Given the description of an element on the screen output the (x, y) to click on. 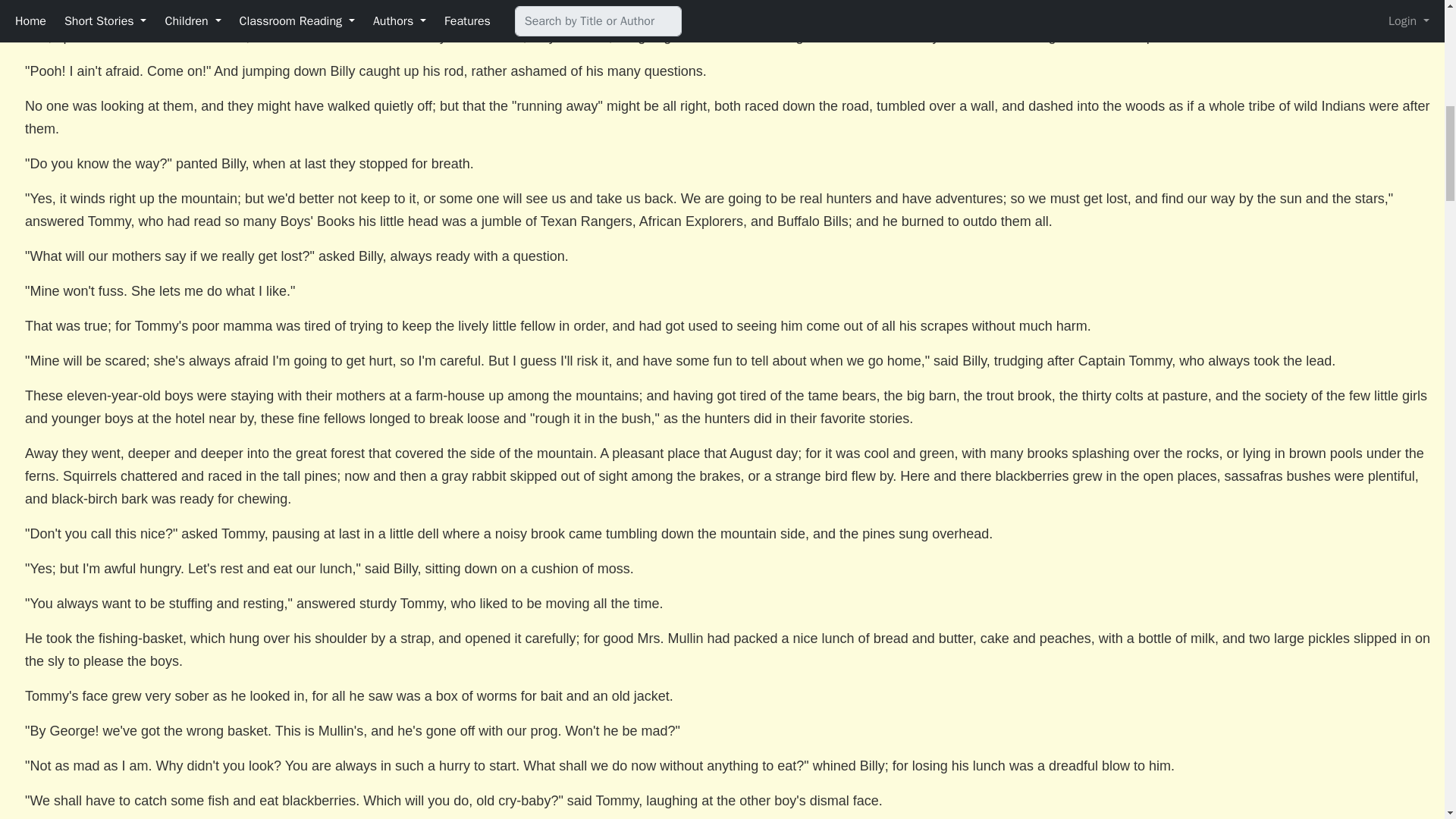
Advertisement (1306, 6)
